Given the description of an element on the screen output the (x, y) to click on. 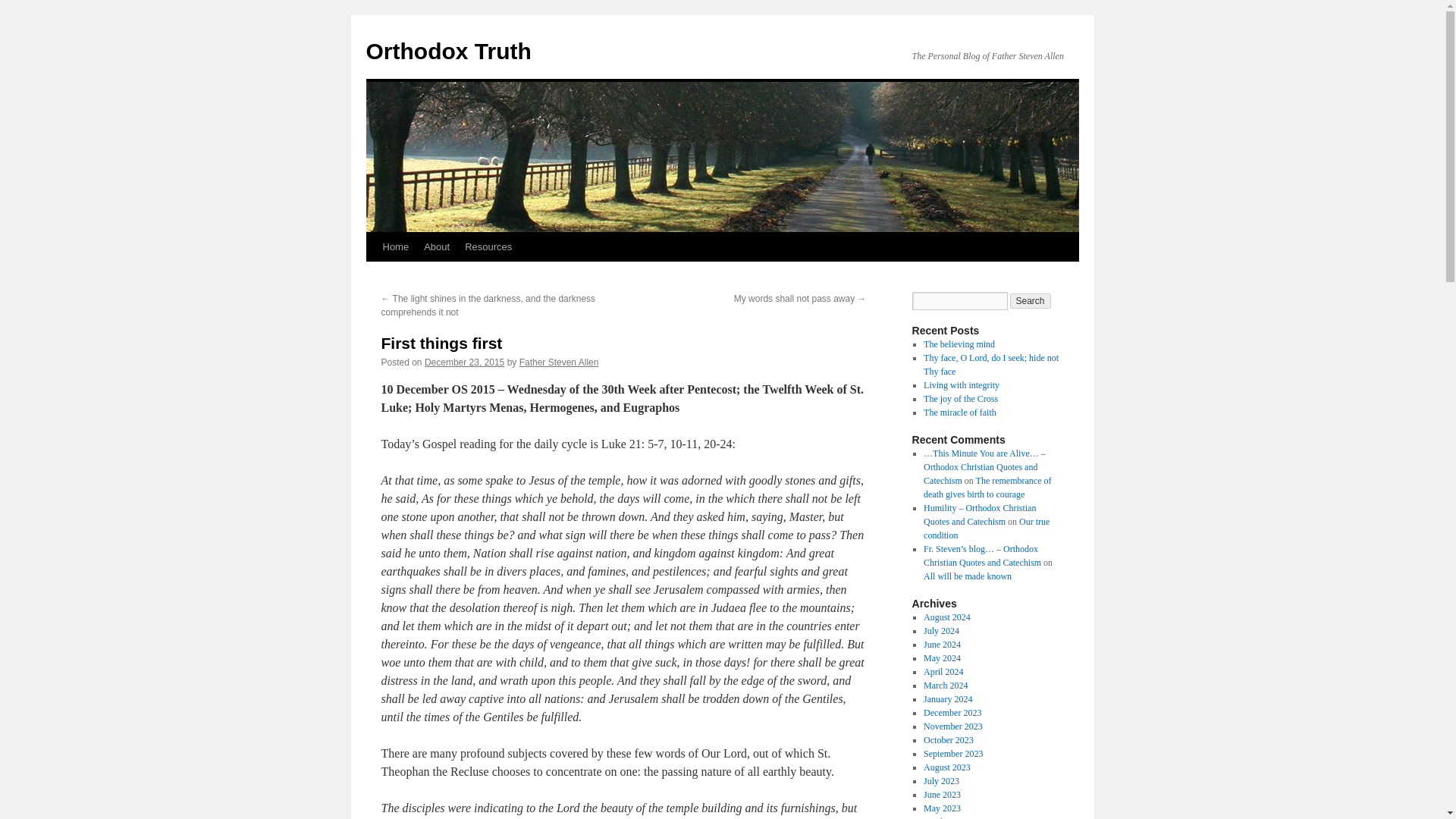
June 2023 (941, 794)
April 2024 (942, 671)
Orthodox Truth (448, 50)
October 2023 (948, 739)
July 2023 (941, 780)
View all posts by Father Steven Allen (558, 362)
August 2023 (947, 767)
6:14 pm (464, 362)
The joy of the Cross (960, 398)
All will be made known (967, 575)
